Given the description of an element on the screen output the (x, y) to click on. 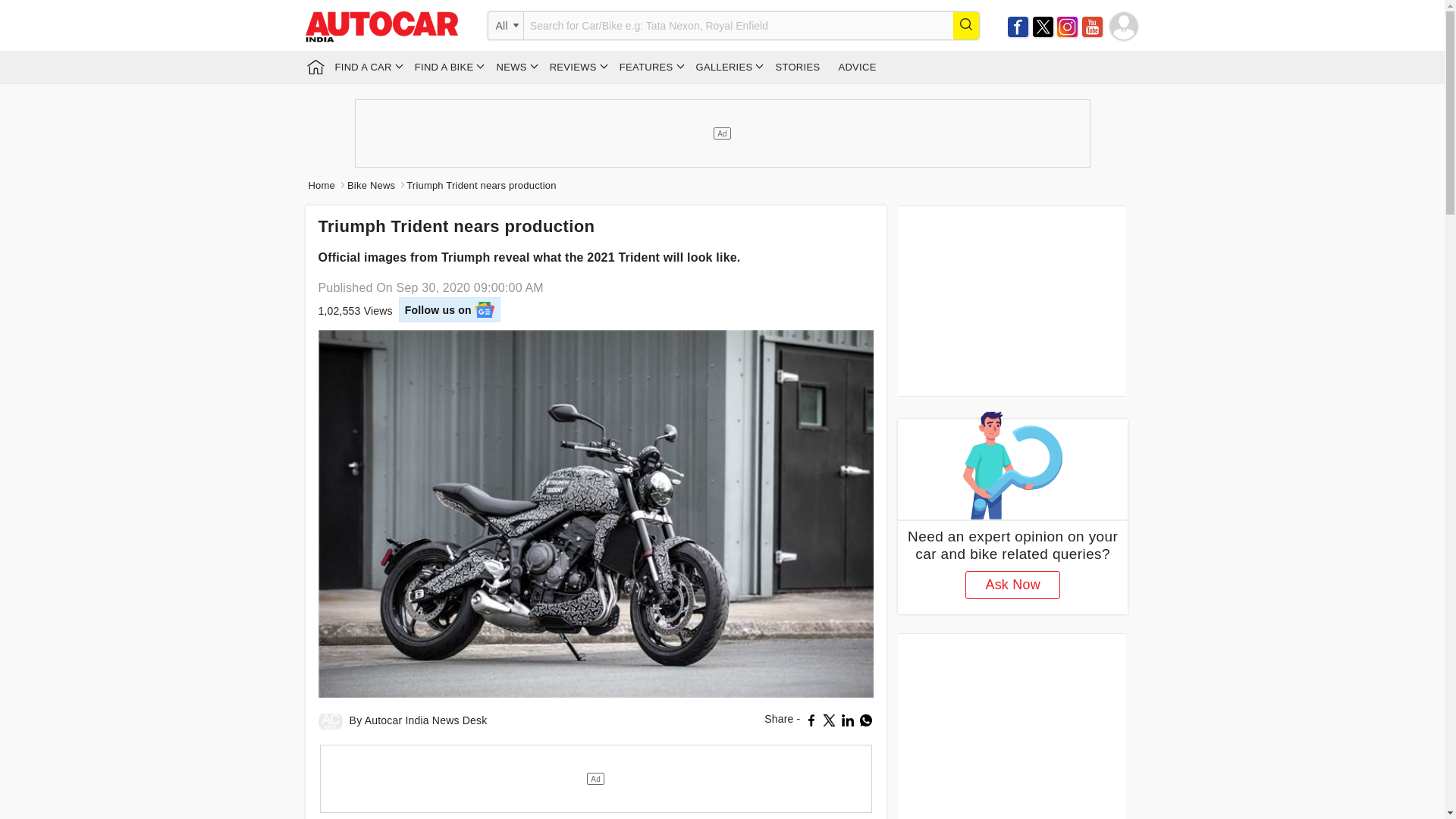
FIND A BIKE (446, 66)
FIND A CAR (366, 66)
